Given the description of an element on the screen output the (x, y) to click on. 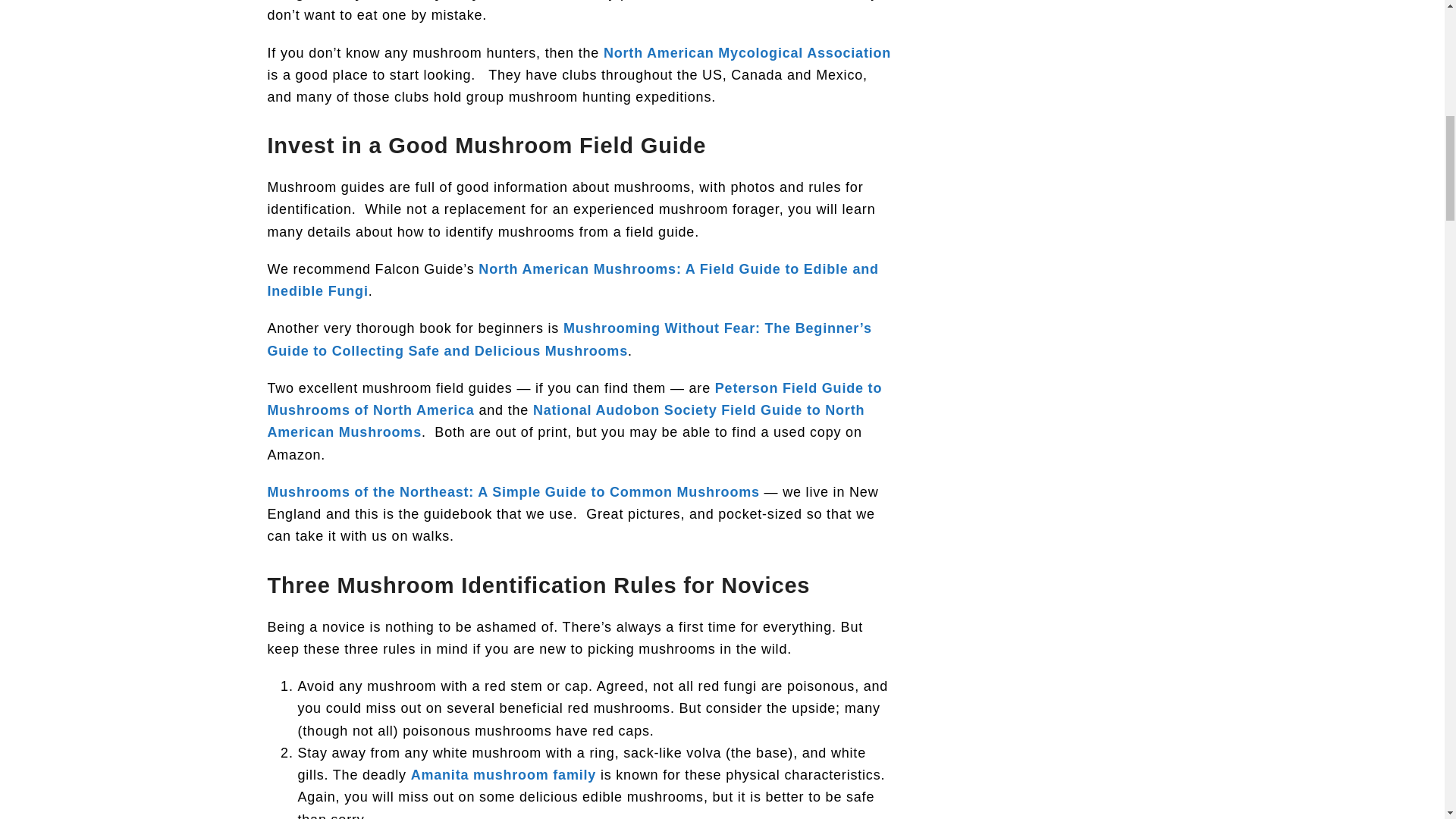
Peterson Field Guide to Mushrooms of North America (574, 398)
Amanita mushroom family (502, 774)
North American Mycological Association (747, 52)
